Given the description of an element on the screen output the (x, y) to click on. 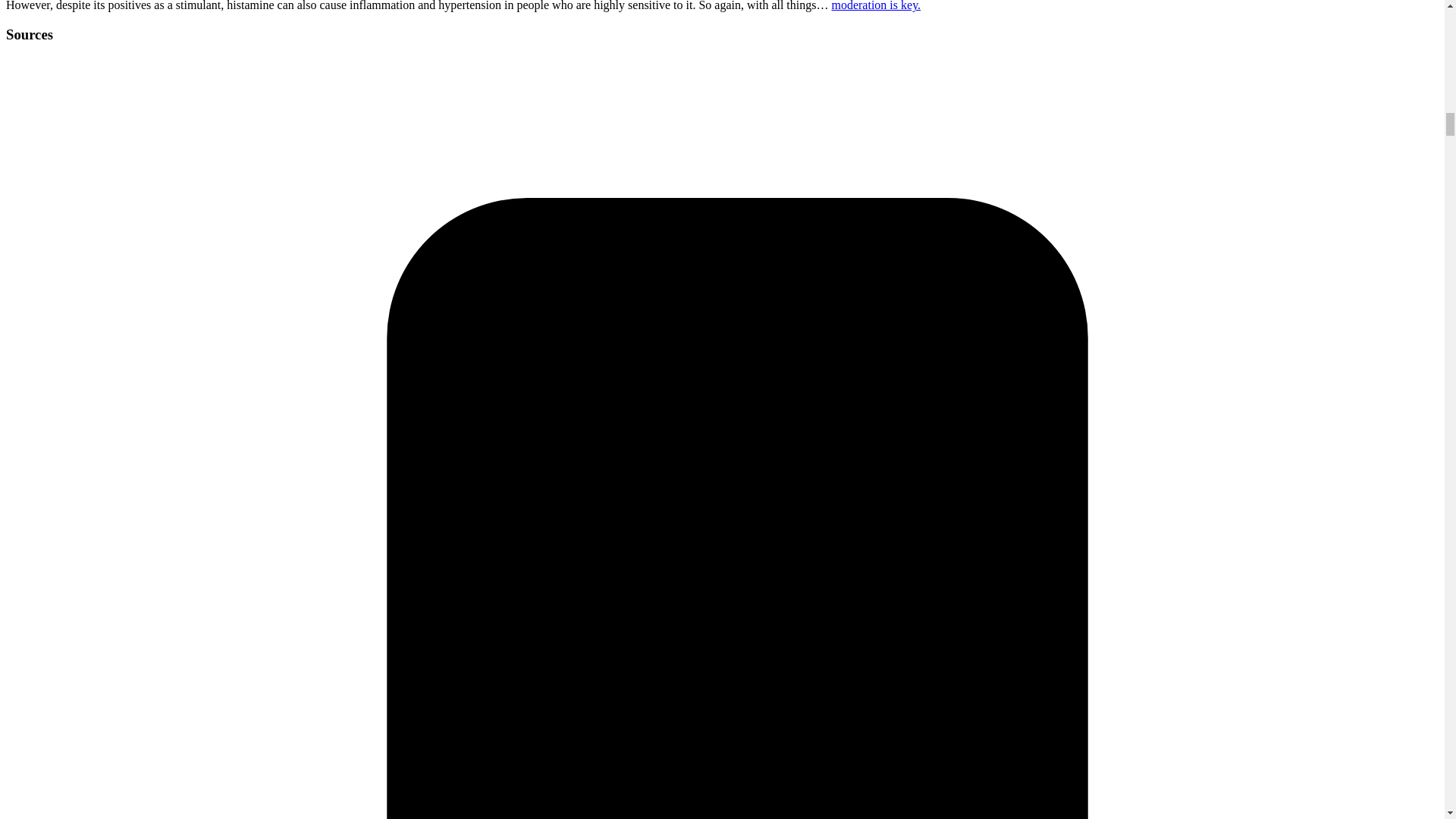
moderation is key. (875, 5)
